Given the description of an element on the screen output the (x, y) to click on. 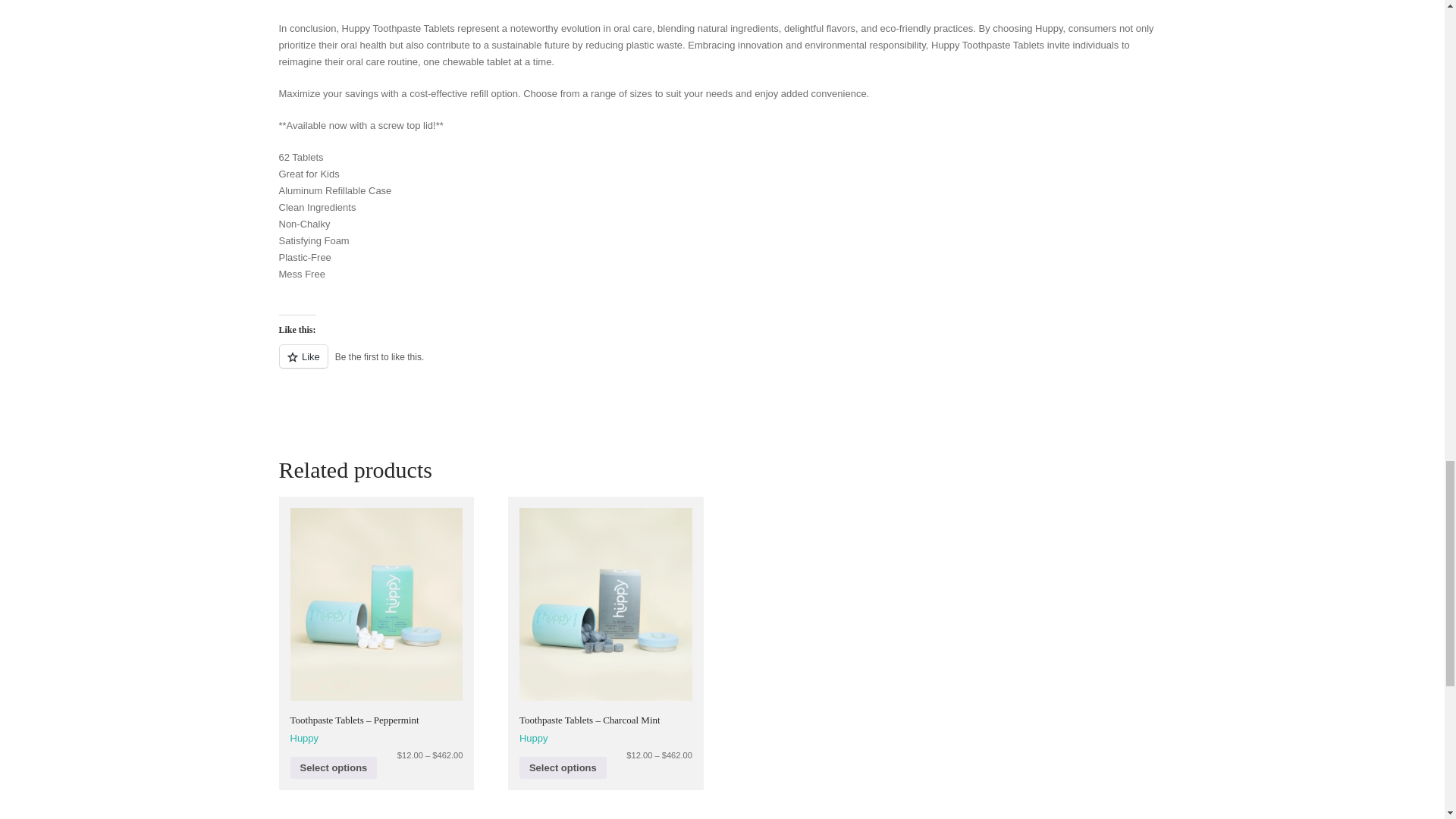
Like or Reblog (722, 364)
